Given the description of an element on the screen output the (x, y) to click on. 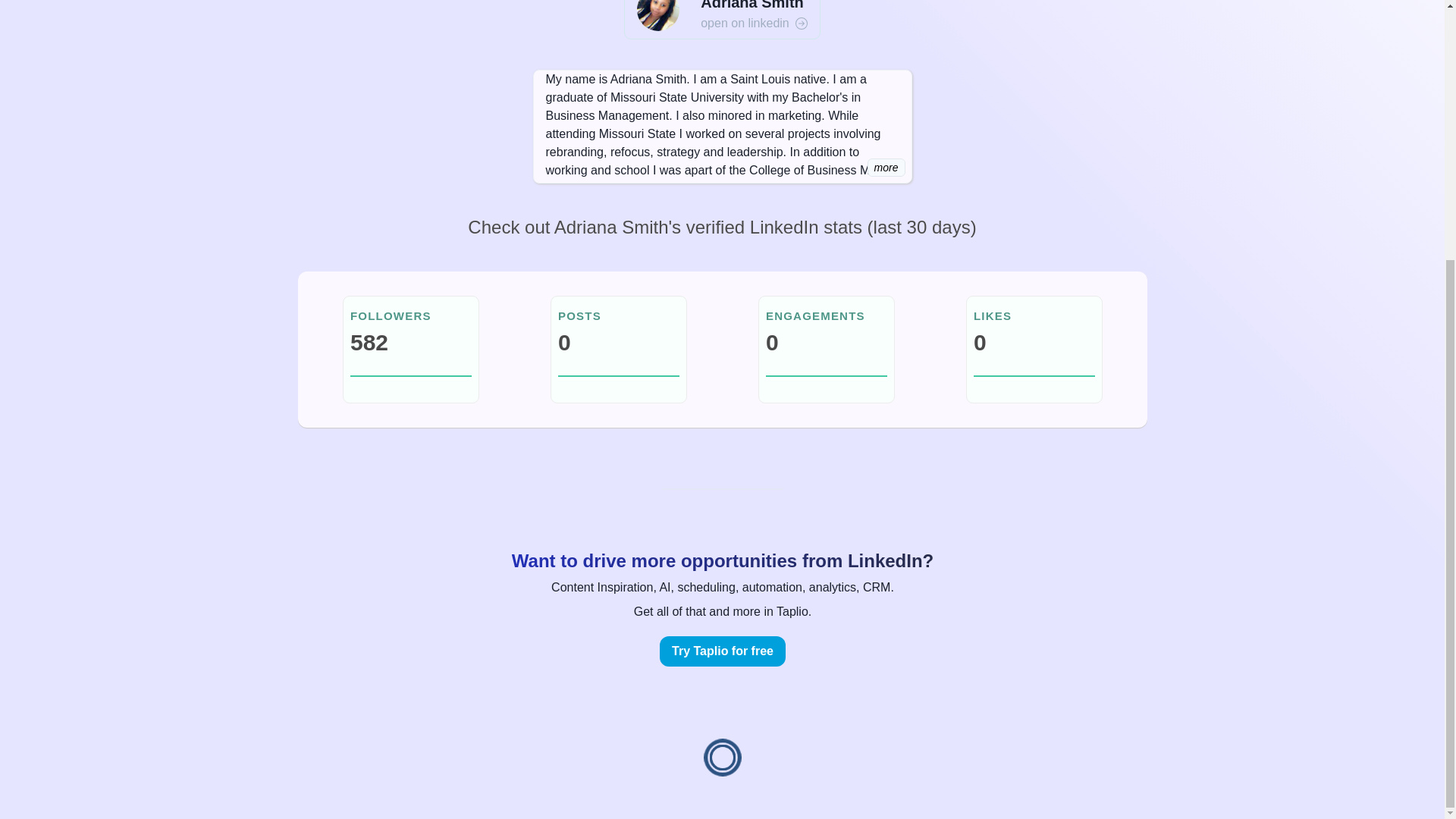
more (886, 167)
open on linkedin (754, 23)
Try Taplio for free (722, 650)
